Given the description of an element on the screen output the (x, y) to click on. 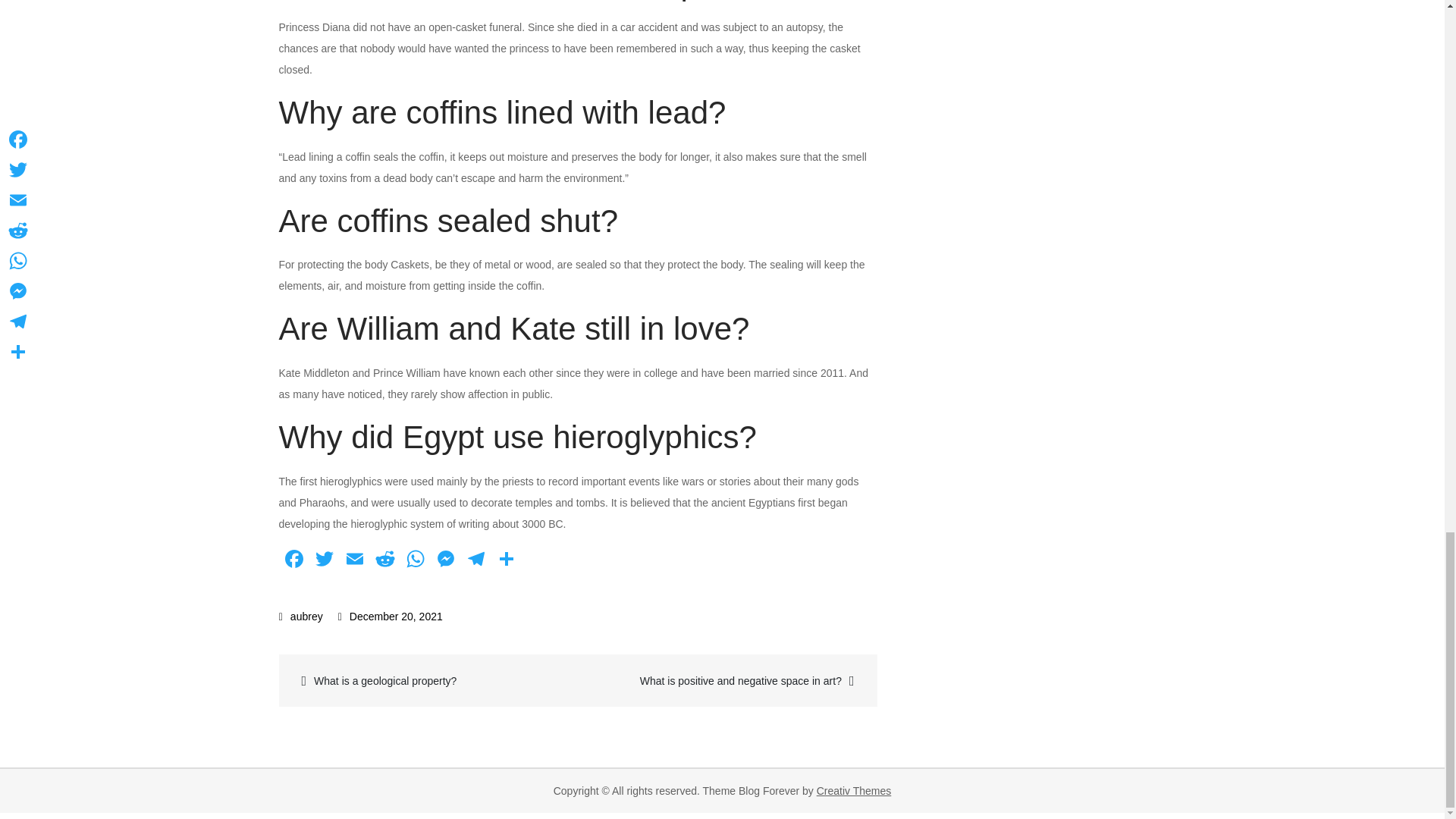
Reddit (384, 560)
WhatsApp (415, 560)
December 20, 2021 (389, 616)
Messenger (445, 560)
What is positive and negative space in art? (725, 680)
WhatsApp (415, 560)
aubrey (301, 616)
Facebook (293, 560)
Telegram (476, 560)
Email (354, 560)
Facebook (293, 560)
Twitter (323, 560)
Telegram (476, 560)
Messenger (445, 560)
Email (354, 560)
